Given the description of an element on the screen output the (x, y) to click on. 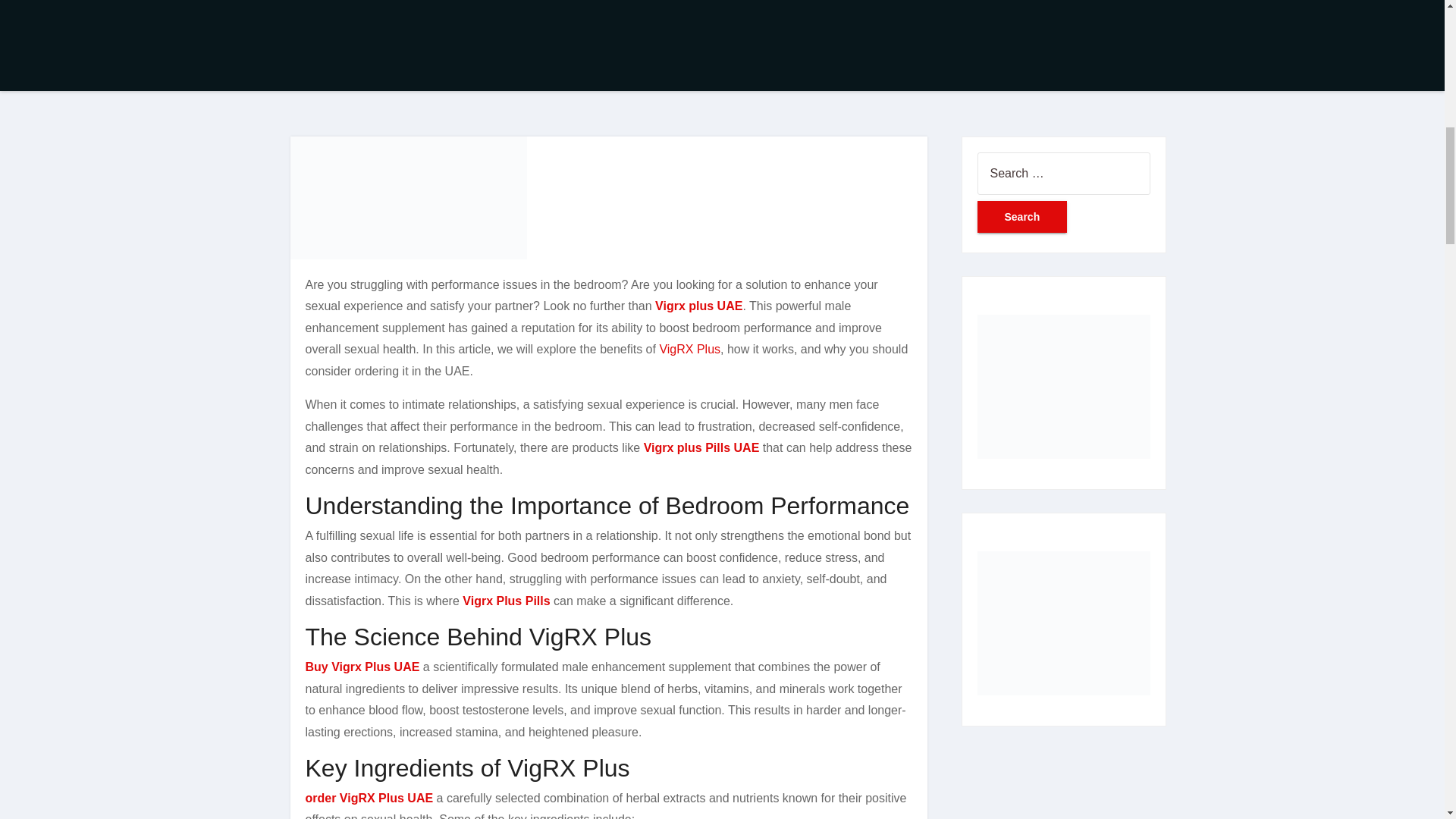
Vigrx plus UAE (698, 305)
Vigrx plus Pills UAE (701, 447)
Buy Vigrx Plus UAE (361, 666)
Vigrx Plus Pills (506, 600)
order VigRX Plus UAE (368, 797)
VigRX Plus (689, 349)
Search (1021, 216)
Search (1021, 216)
